Given the description of an element on the screen output the (x, y) to click on. 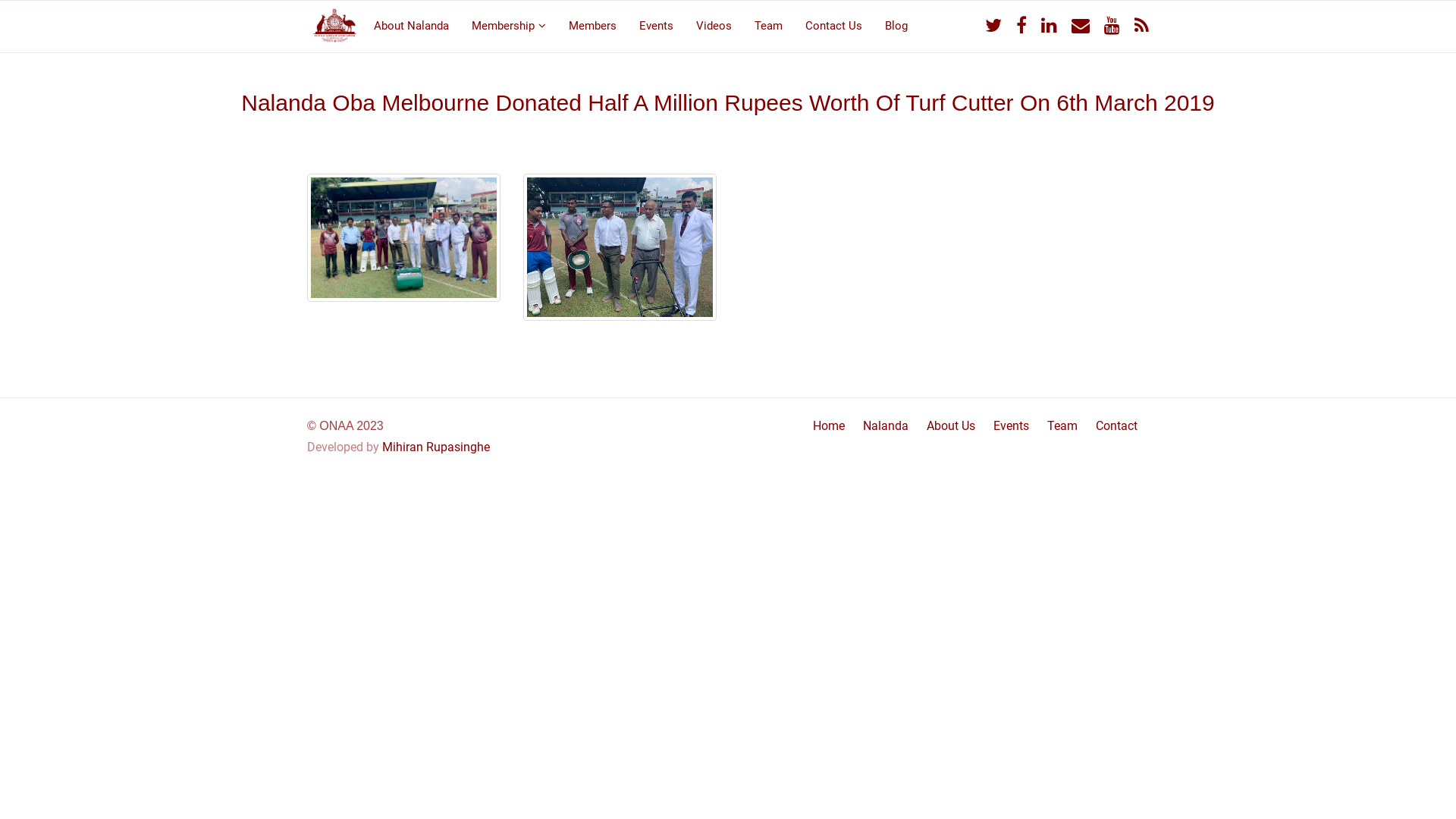
Blog Element type: text (896, 24)
Contact Element type: text (1116, 425)
Nalanda Element type: text (885, 425)
Videos Element type: text (713, 24)
Events Element type: text (1011, 425)
Home Element type: text (828, 425)
Events Element type: text (655, 24)
Members Element type: text (592, 24)
Membership Element type: text (508, 24)
Mihiran Rupasinghe Element type: text (435, 446)
Contact Us Element type: text (833, 24)
About Nalanda Element type: text (411, 24)
Team Element type: text (768, 24)
About Us Element type: text (950, 425)
Team Element type: text (1062, 425)
